Given the description of an element on the screen output the (x, y) to click on. 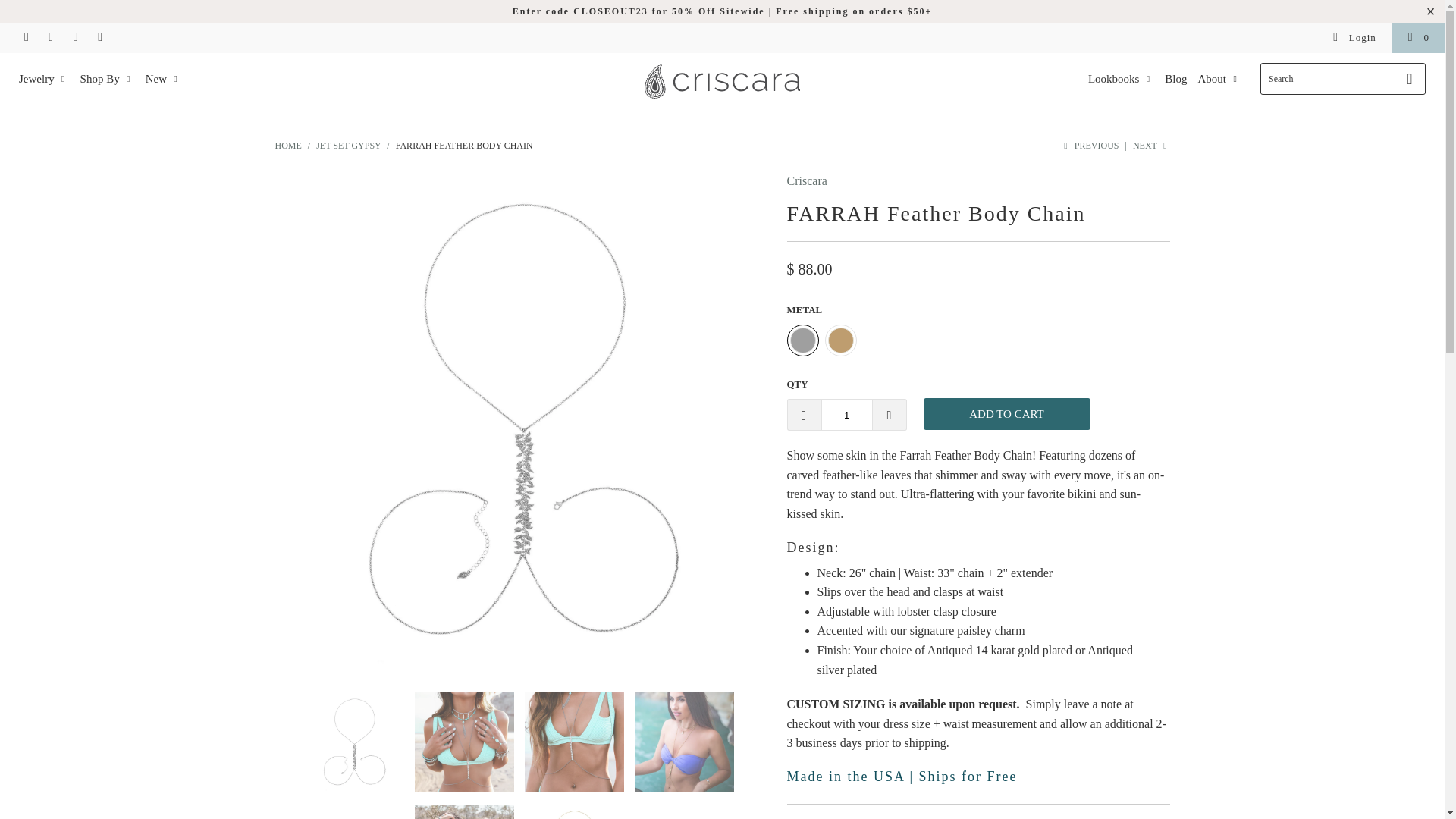
My Account  (1353, 37)
1 (846, 414)
Criscara on Facebook (99, 37)
Jet Set Gypsy (347, 145)
Criscara (722, 83)
Previous (1089, 145)
Criscara (807, 180)
Criscara on Twitter (74, 37)
Criscara (288, 145)
Criscara on Instagram (25, 37)
Criscara on Pinterest (49, 37)
Next (1151, 145)
